Given the description of an element on the screen output the (x, y) to click on. 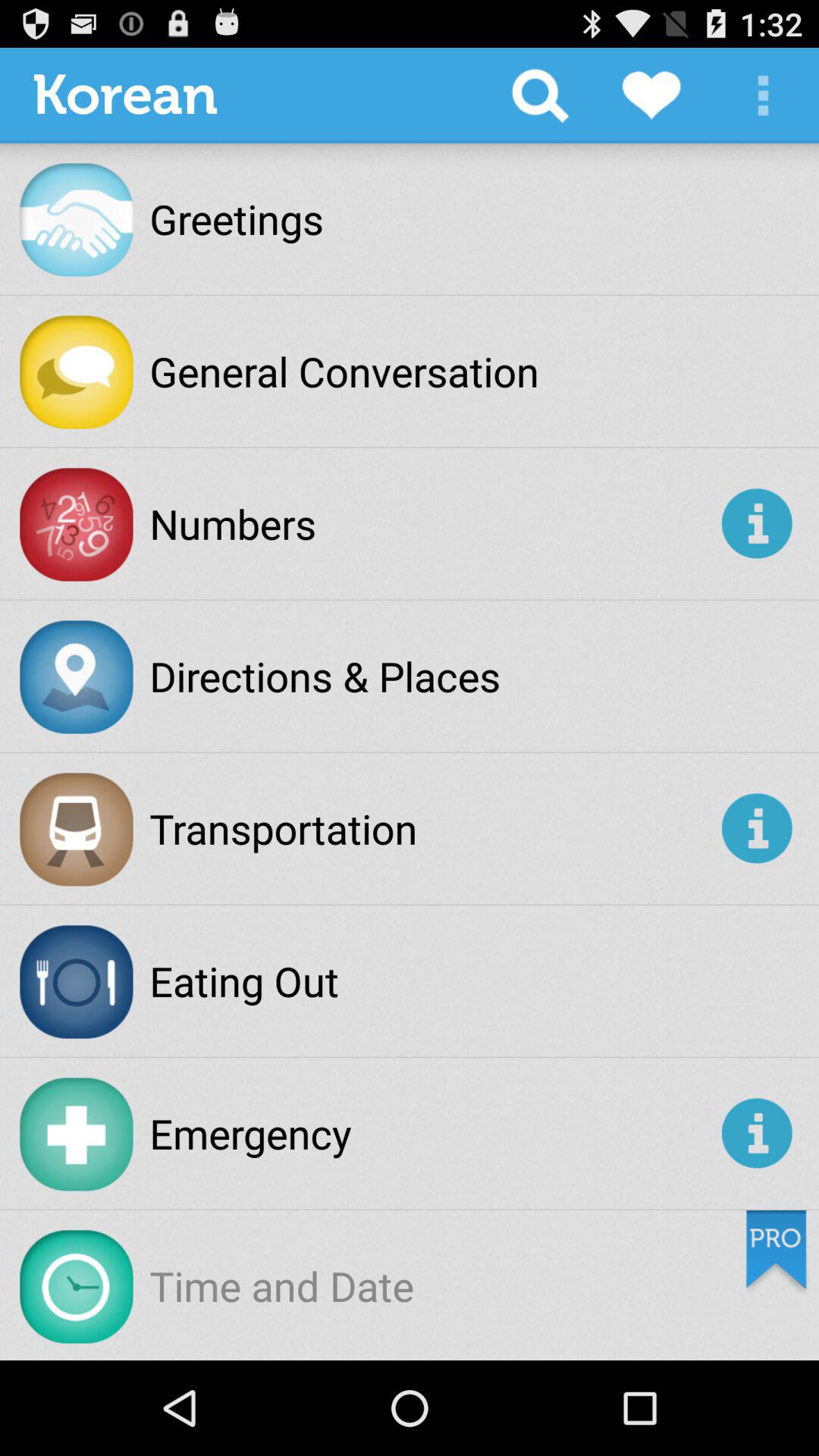
press the time and date icon (281, 1285)
